Given the description of an element on the screen output the (x, y) to click on. 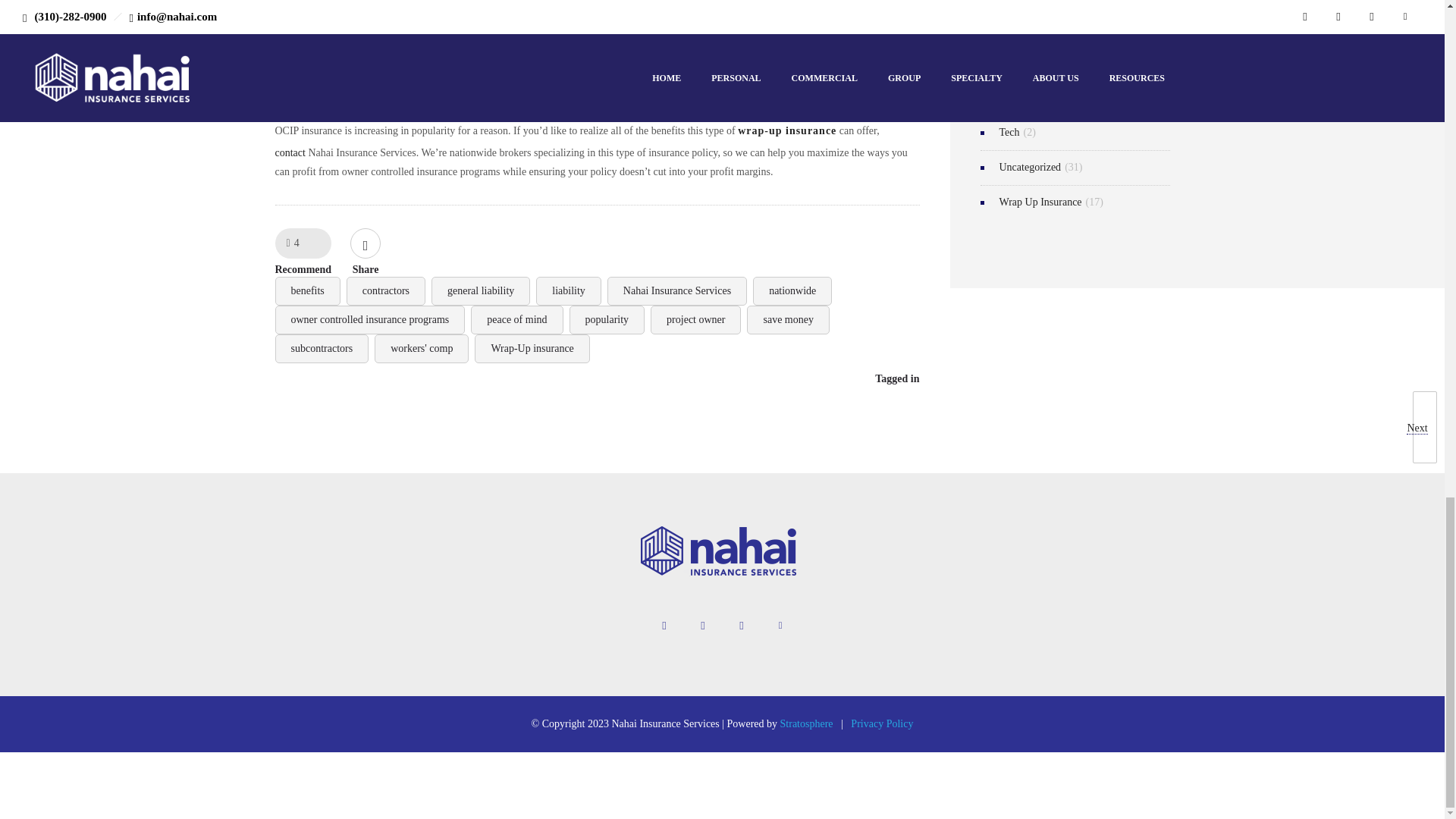
Facebook (663, 625)
mail (780, 625)
Twitter (741, 625)
LinkedIN (703, 625)
